Given the description of an element on the screen output the (x, y) to click on. 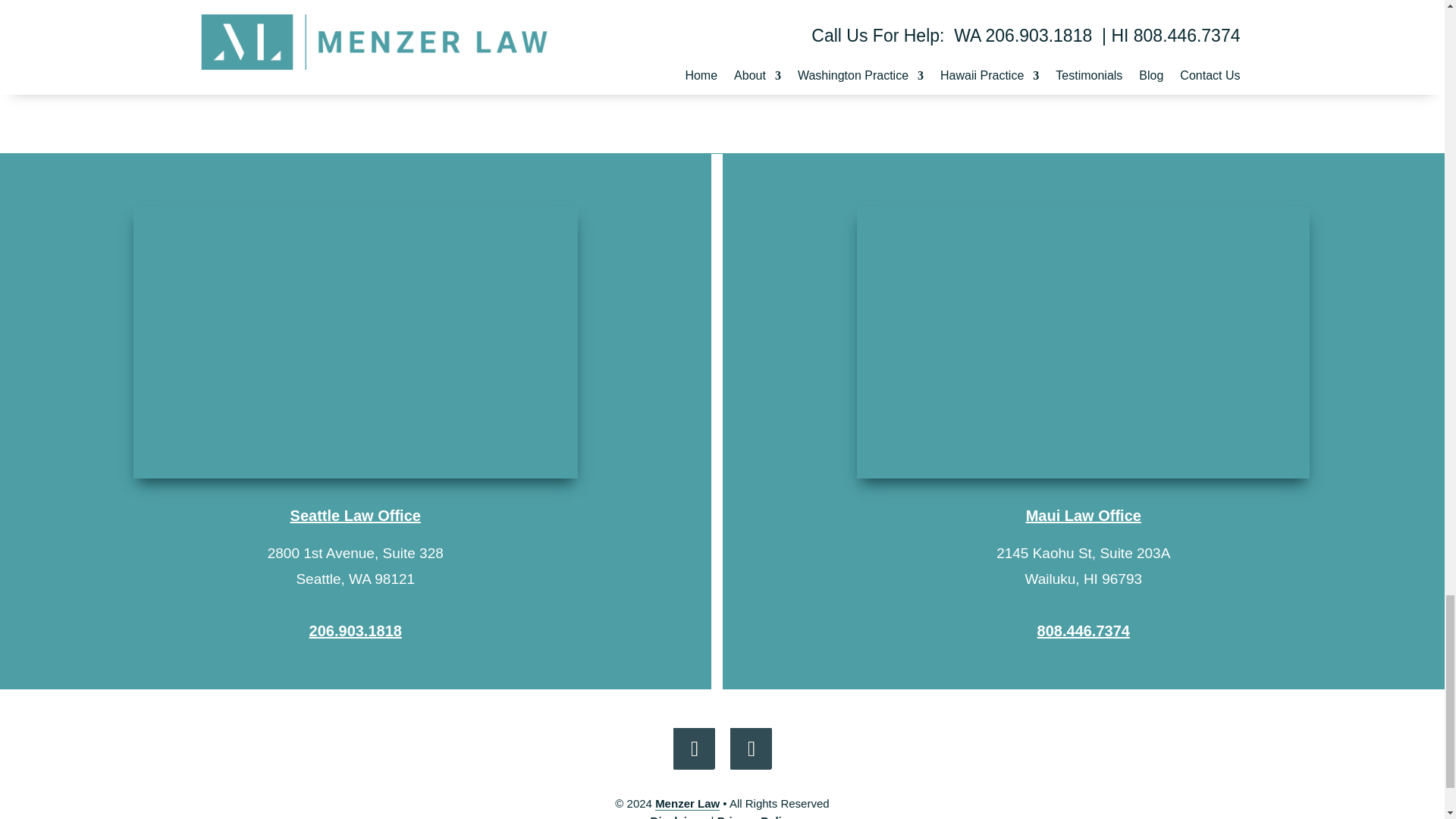
Follow on LinkedIn (750, 748)
Send (458, 77)
Follow on Facebook (693, 748)
